Given the description of an element on the screen output the (x, y) to click on. 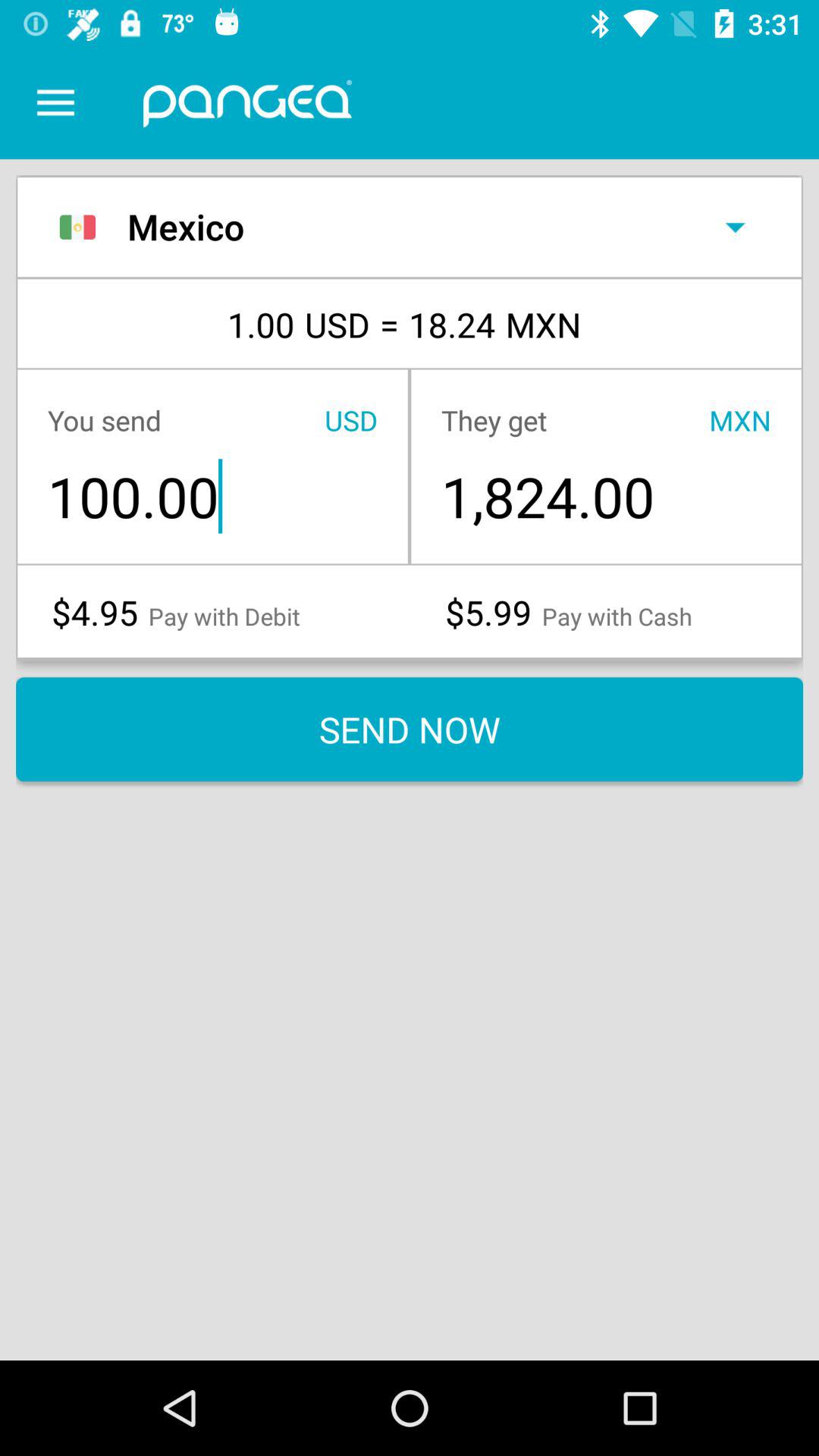
flip until send now icon (409, 729)
